Given the description of an element on the screen output the (x, y) to click on. 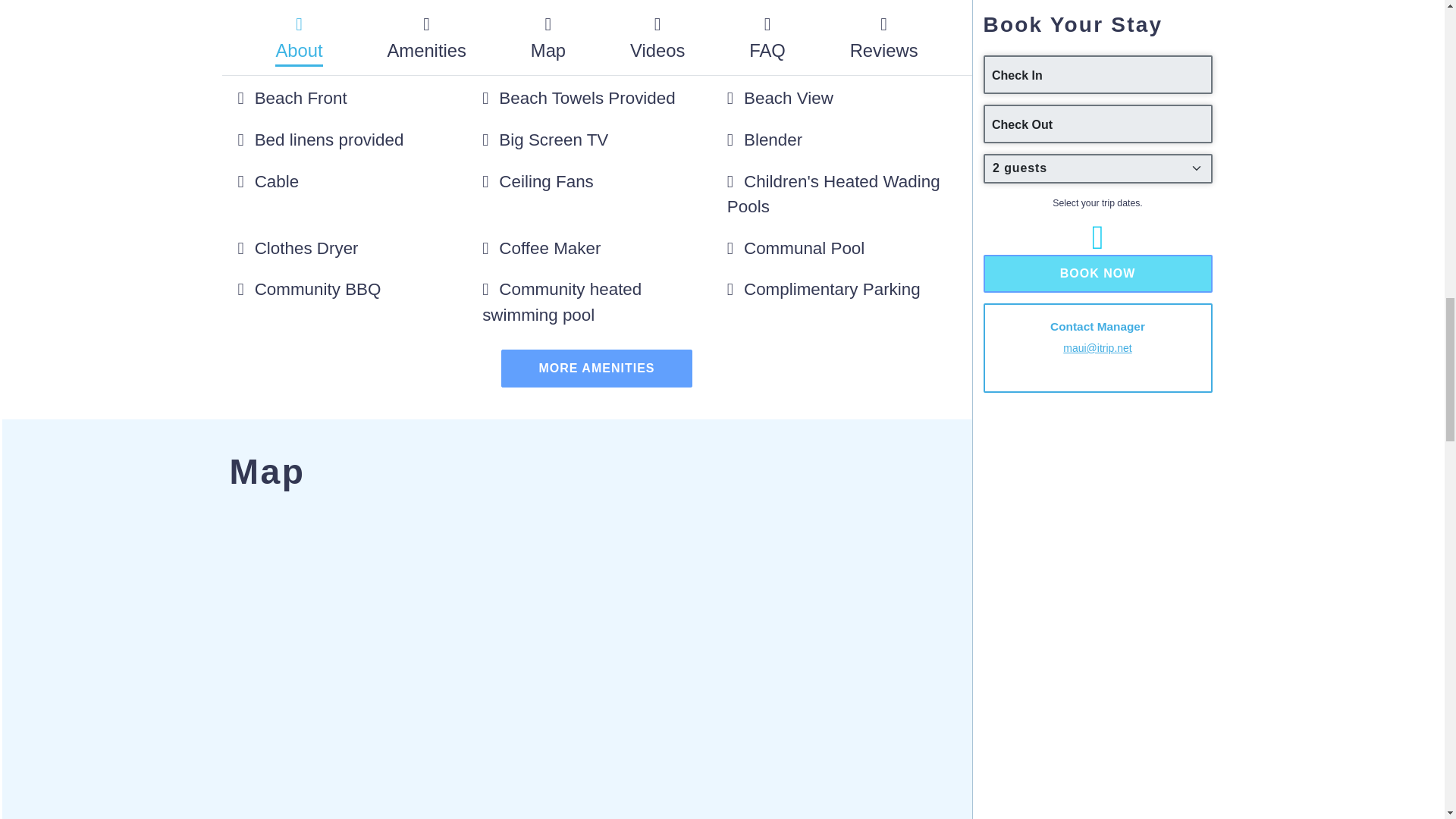
MORE AMENITIES (596, 368)
